Given the description of an element on the screen output the (x, y) to click on. 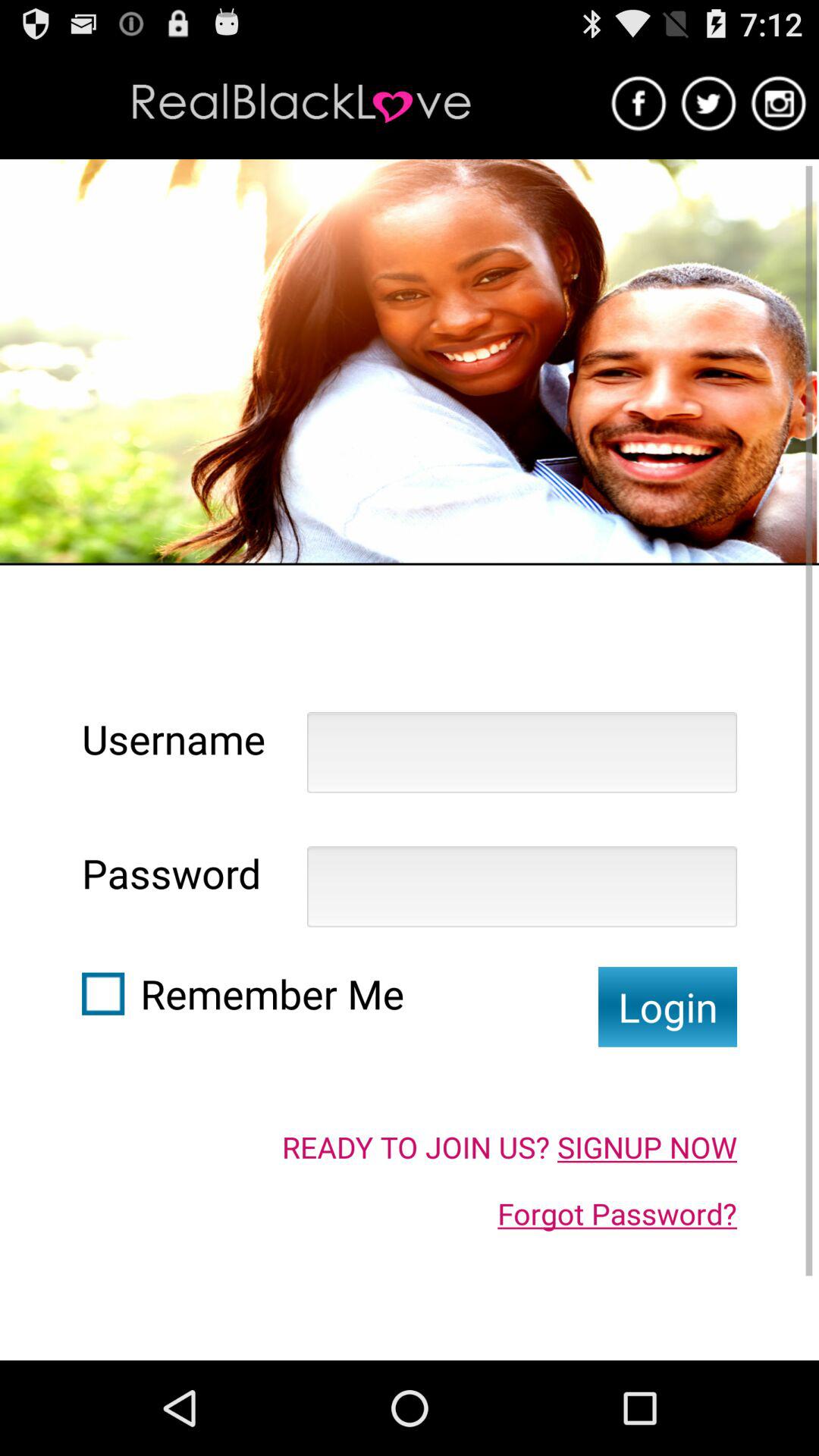
turn off the login item (667, 1006)
